Given the description of an element on the screen output the (x, y) to click on. 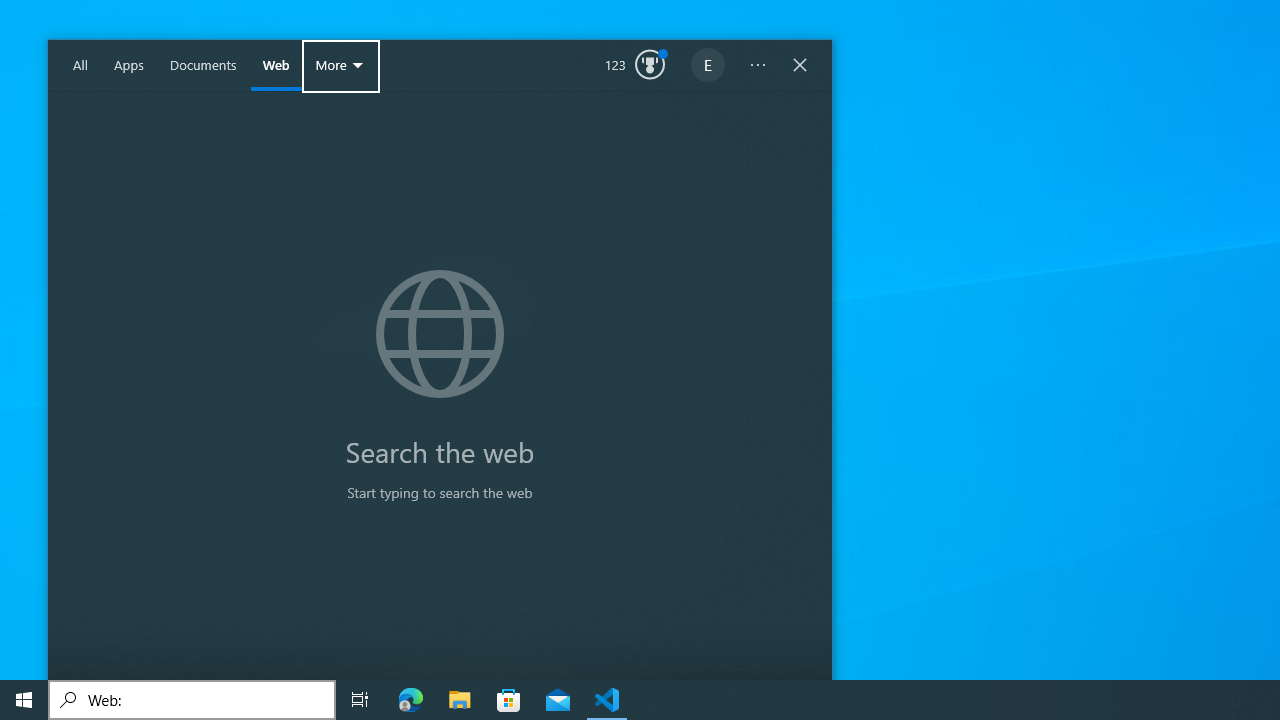
Start (24, 699)
Close Windows Search (799, 65)
Search box (191, 699)
More (340, 65)
Documents (203, 65)
Web (276, 65)
All (80, 65)
Options (758, 65)
Microsoft Rewards balance: 123 (635, 65)
Apps (129, 65)
EugeneLedger601@outlook.com (707, 65)
